Given the description of an element on the screen output the (x, y) to click on. 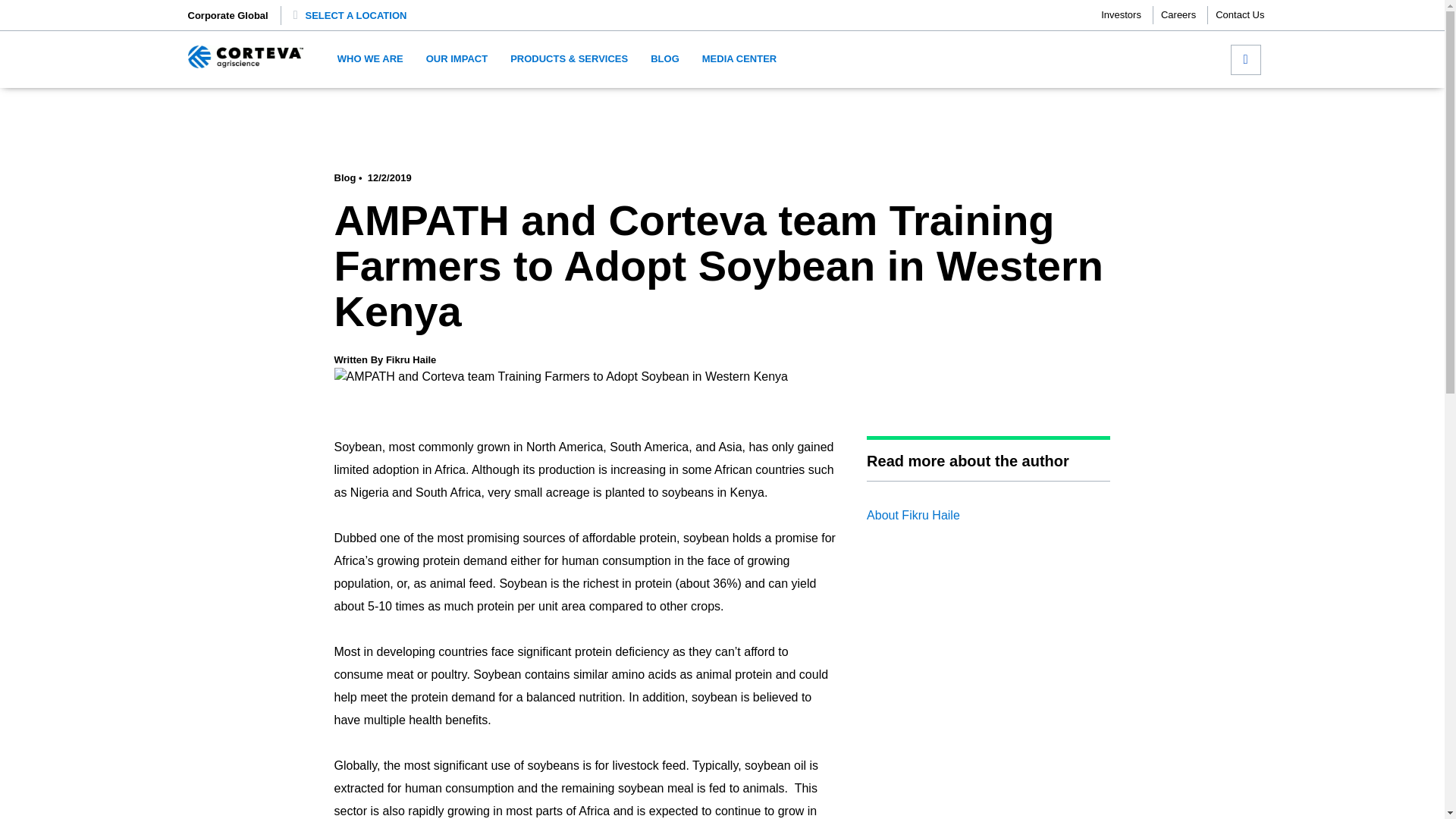
LinkedIn (1051, 108)
SELECT A LOCATION (356, 15)
WHO WE ARE (370, 58)
MEDIA CENTER (738, 58)
Contact Us (1239, 14)
WhatsApp (1074, 108)
OUR IMPACT (456, 58)
Facebook (1000, 108)
Careers (1184, 14)
E-Mail (1101, 108)
BLOG (664, 58)
Twitter (1025, 108)
Investors (1126, 14)
